Given the description of an element on the screen output the (x, y) to click on. 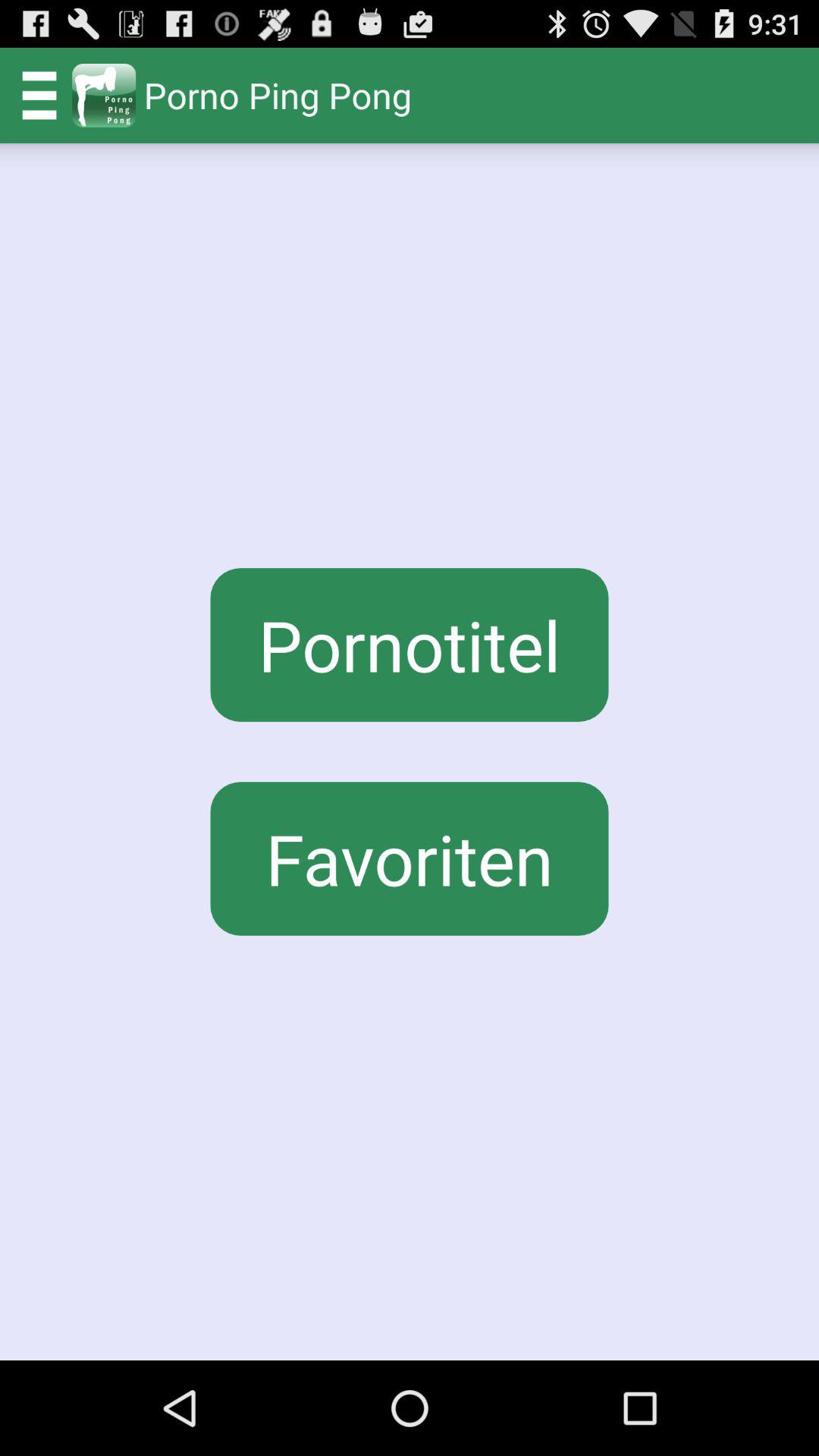
launch the icon below porno ping pong icon (409, 644)
